Given the description of an element on the screen output the (x, y) to click on. 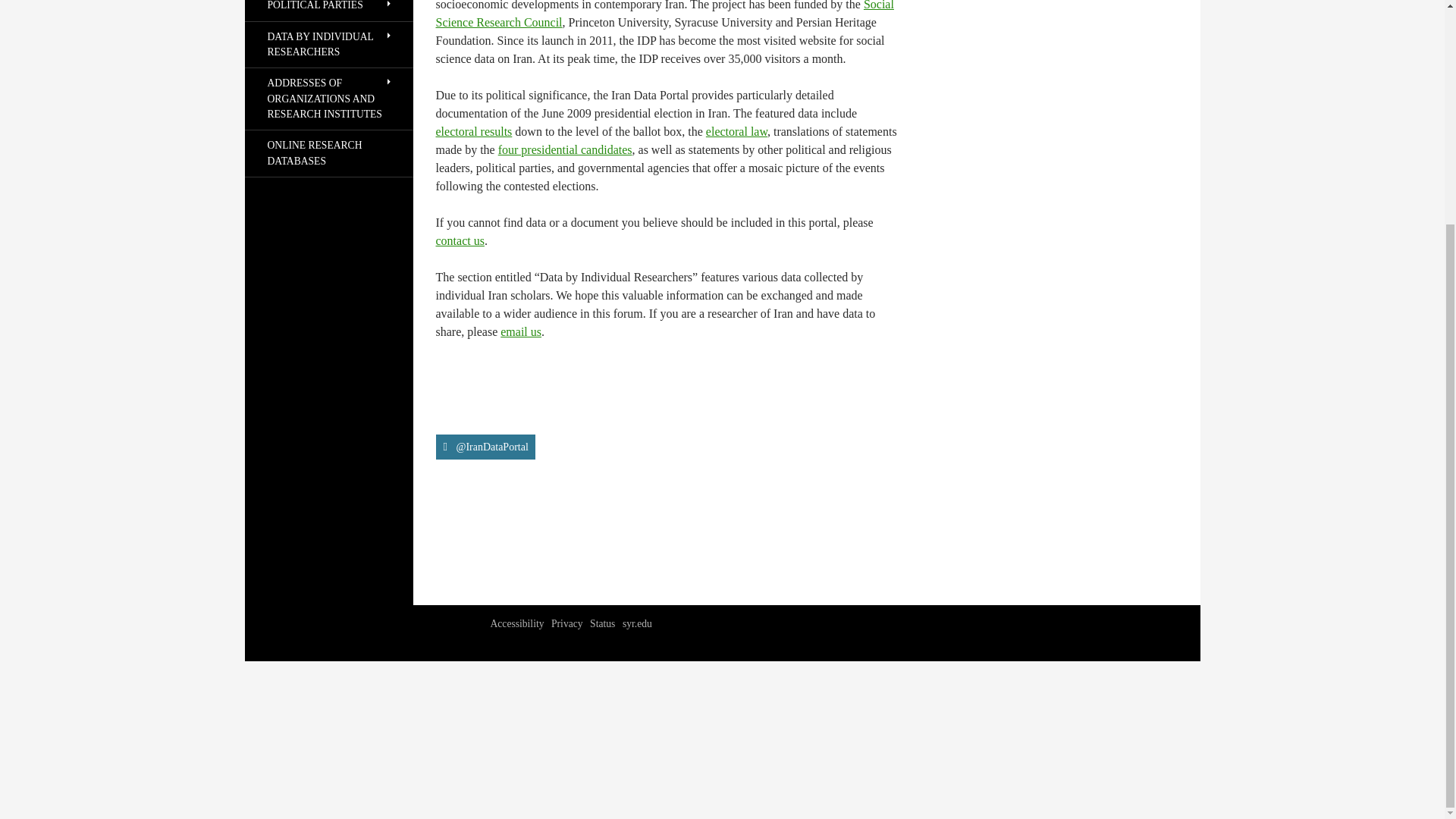
Social Science Research Council (664, 14)
electoral results (473, 131)
four presidential candidates (564, 149)
contact us (459, 240)
electoral law (736, 131)
email us (520, 331)
